Given the description of an element on the screen output the (x, y) to click on. 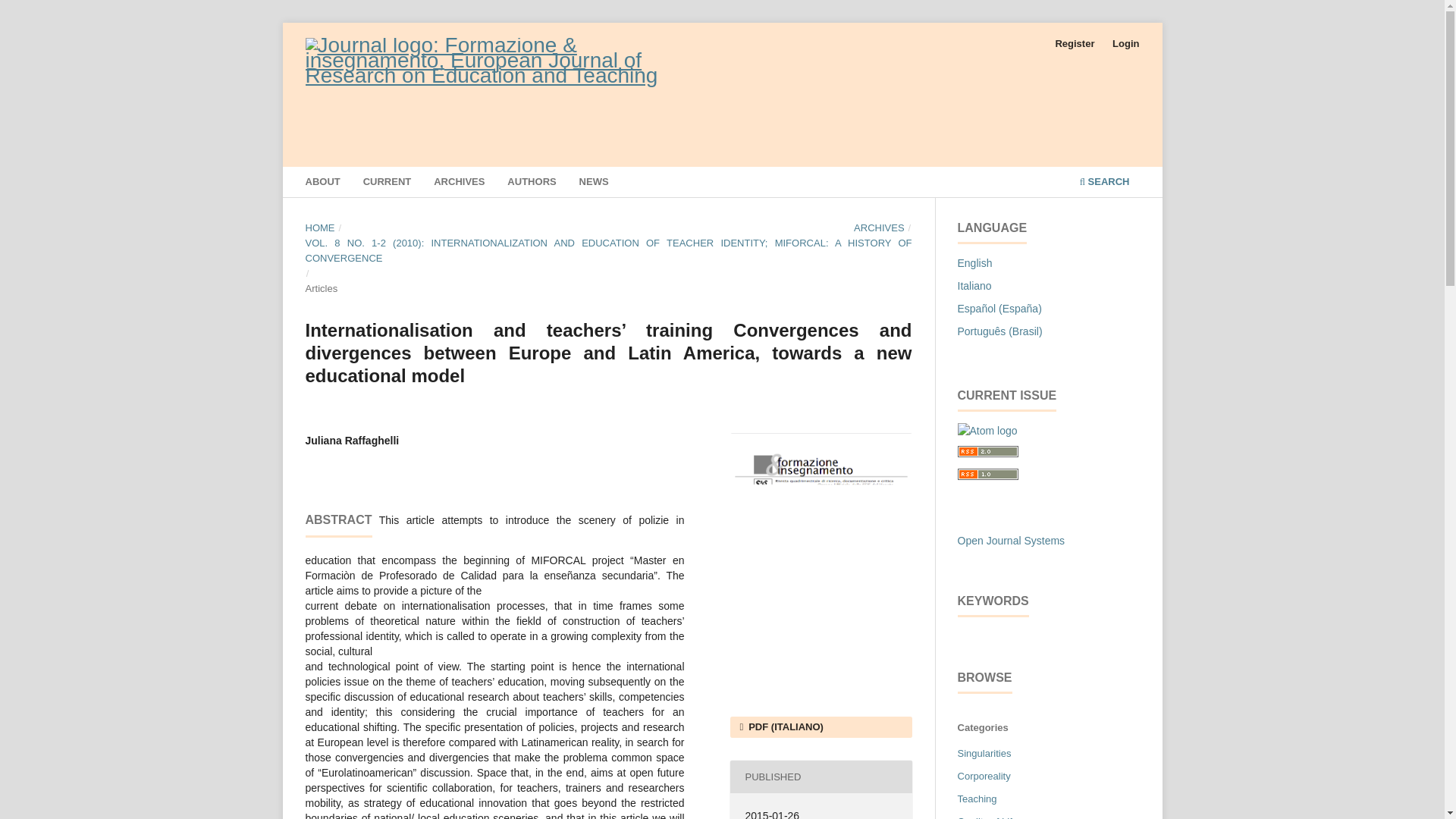
Register (1074, 43)
SEARCH (1104, 183)
NEWS (592, 183)
ARCHIVES (878, 227)
CURRENT (387, 183)
ABOUT (322, 183)
AUTHORS (531, 183)
ARCHIVES (459, 183)
HOME (319, 227)
Login (1126, 43)
